Given the description of an element on the screen output the (x, y) to click on. 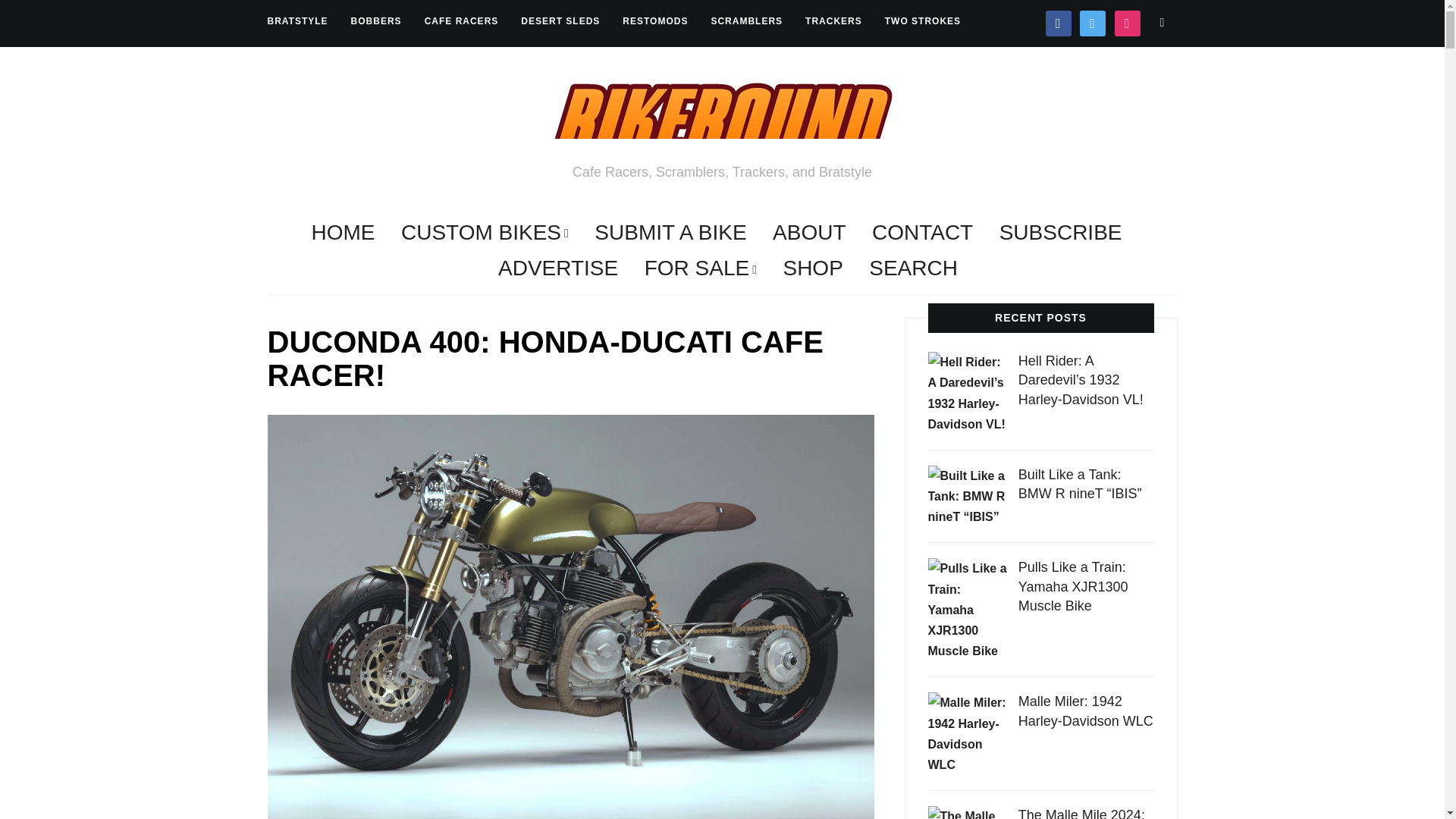
BOBBERS (375, 21)
Twitter (1092, 22)
SCRAMBLERS (746, 21)
RESTOMODS (655, 21)
BRATSTYLE (296, 21)
DESERT SLEDS (560, 21)
TWITTER (1092, 22)
Search (1161, 22)
INSTAGRAM (1127, 22)
Instagram (1127, 22)
